Given the description of an element on the screen output the (x, y) to click on. 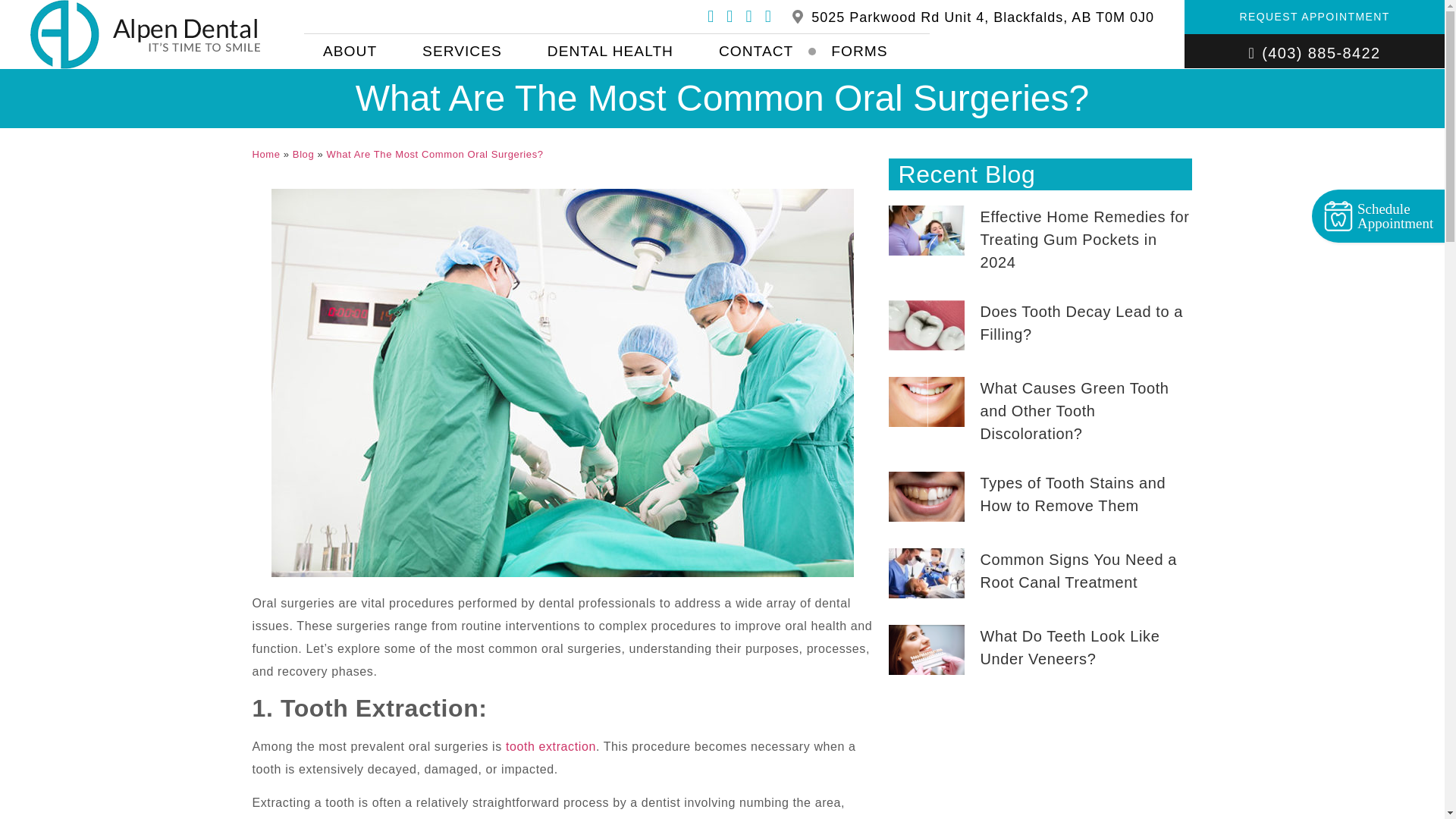
5025 Parkwood Rd Unit 4, Blackfalds, AB T0M 0J0 (982, 16)
Blog (303, 154)
Home (265, 154)
SERVICES (465, 51)
DENTAL HEALTH (614, 51)
What Are The Most Common Oral Surgeries? (434, 154)
ABOUT (353, 51)
